Given the description of an element on the screen output the (x, y) to click on. 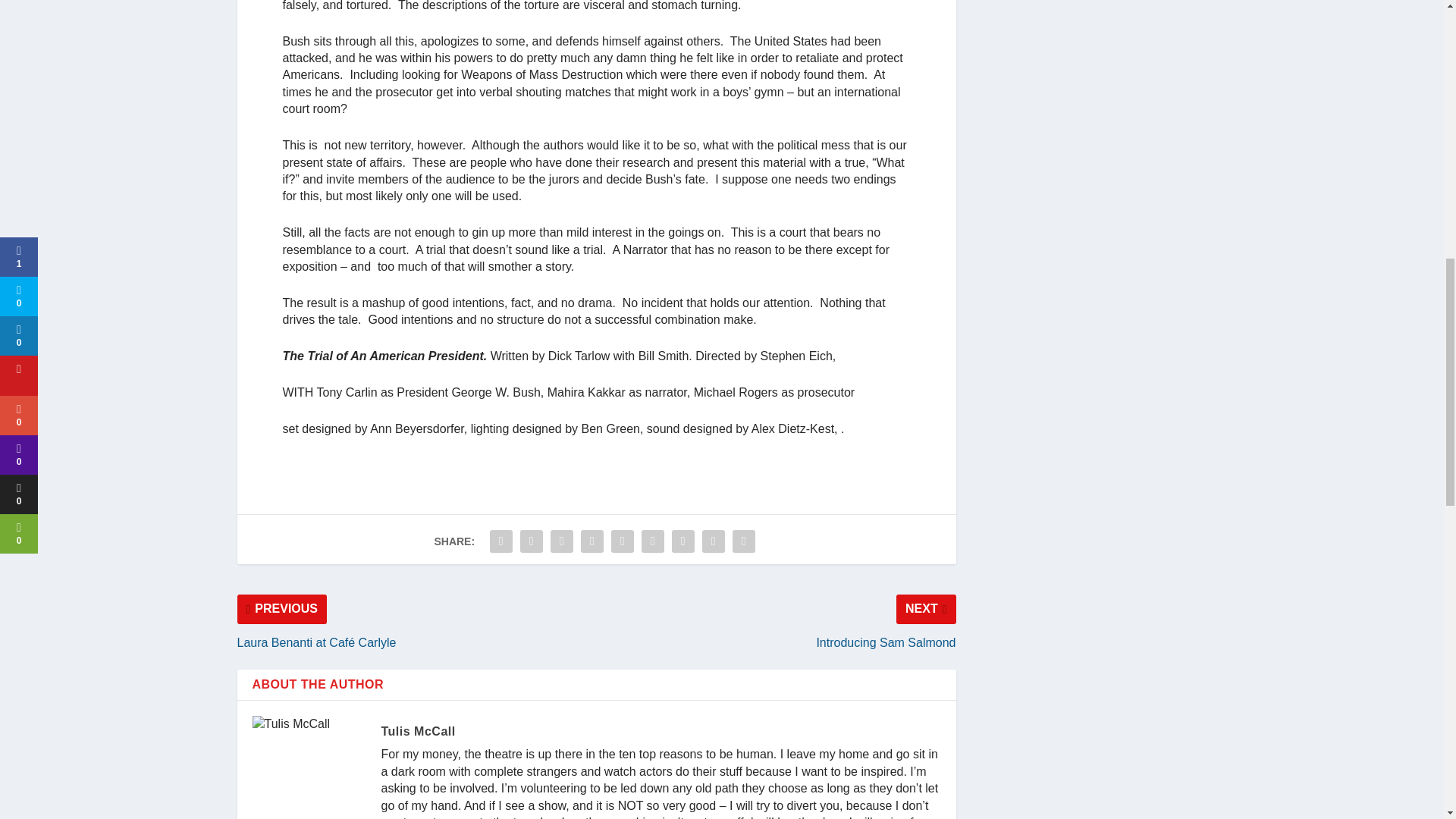
Share "The Trial of an American President" via Tumblr (561, 541)
View all posts by Tulis McCall (417, 730)
Share "The Trial of an American President" via LinkedIn (622, 541)
Share "The Trial of an American President" via Stumbleupon (683, 541)
Share "The Trial of an American President" via Facebook (501, 541)
Share "The Trial of an American President" via Buffer (652, 541)
Share "The Trial of an American President" via Twitter (531, 541)
Share "The Trial of an American President" via Print (743, 541)
Share "The Trial of an American President" via Pinterest (591, 541)
Share "The Trial of an American President" via Email (713, 541)
